Given the description of an element on the screen output the (x, y) to click on. 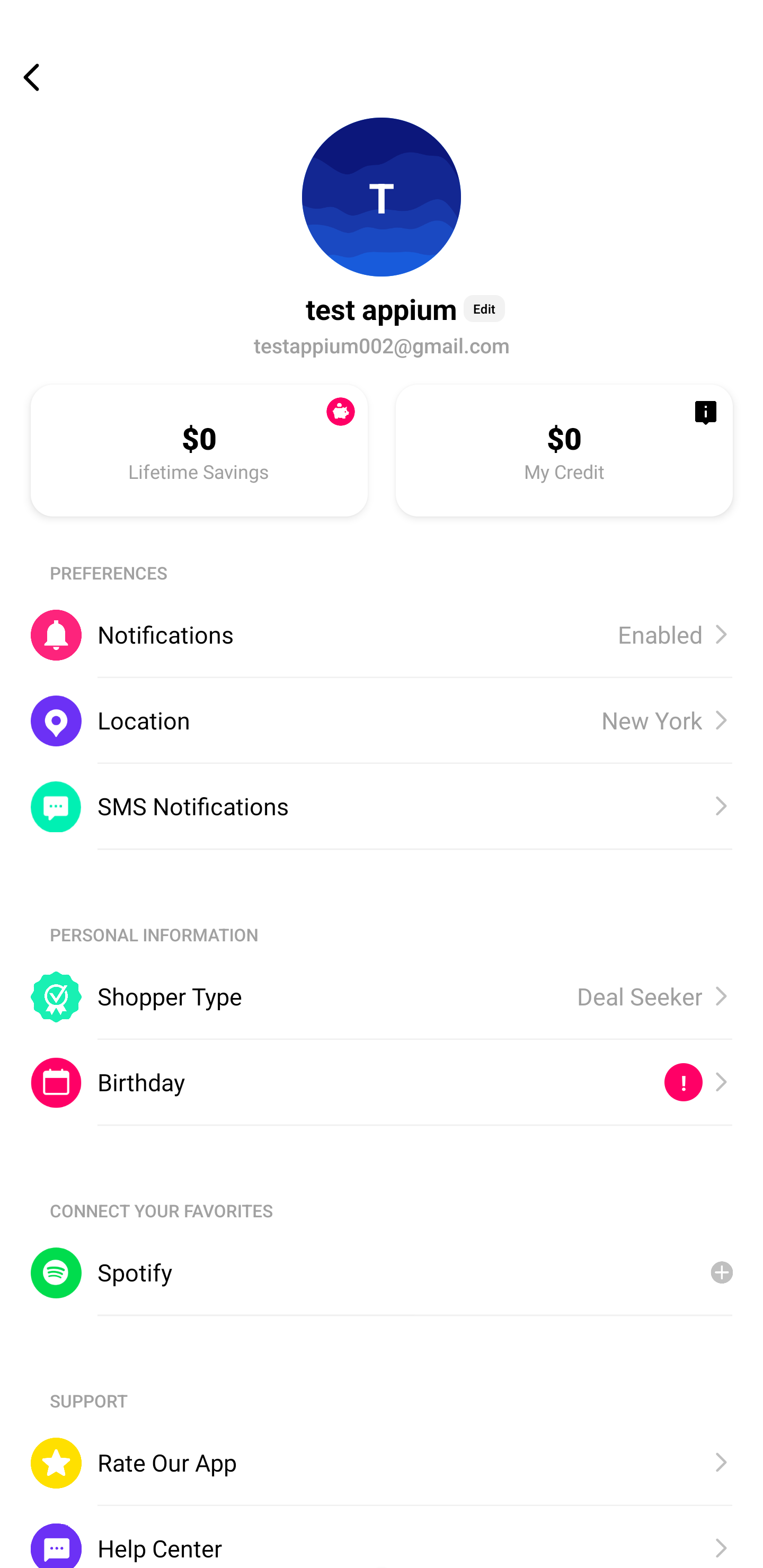
T (381, 196)
Edit (484, 307)
$0, Lifetime Savings $0 Lifetime Savings (198, 449)
$0, My Credit $0 My Credit (563, 449)
Location, New York Location New York (381, 720)
SMS Notifications,    SMS Notifications    (381, 806)
Shopper Type, Deal Seeker Shopper Type Deal Seeker (381, 996)
Birthday,   , ! Birthday    ! (381, 1082)
Spotify,    Spotify    (381, 1272)
Rate Our App,    Rate Our App    (381, 1462)
Help Center,    Help Center    (381, 1536)
